Given the description of an element on the screen output the (x, y) to click on. 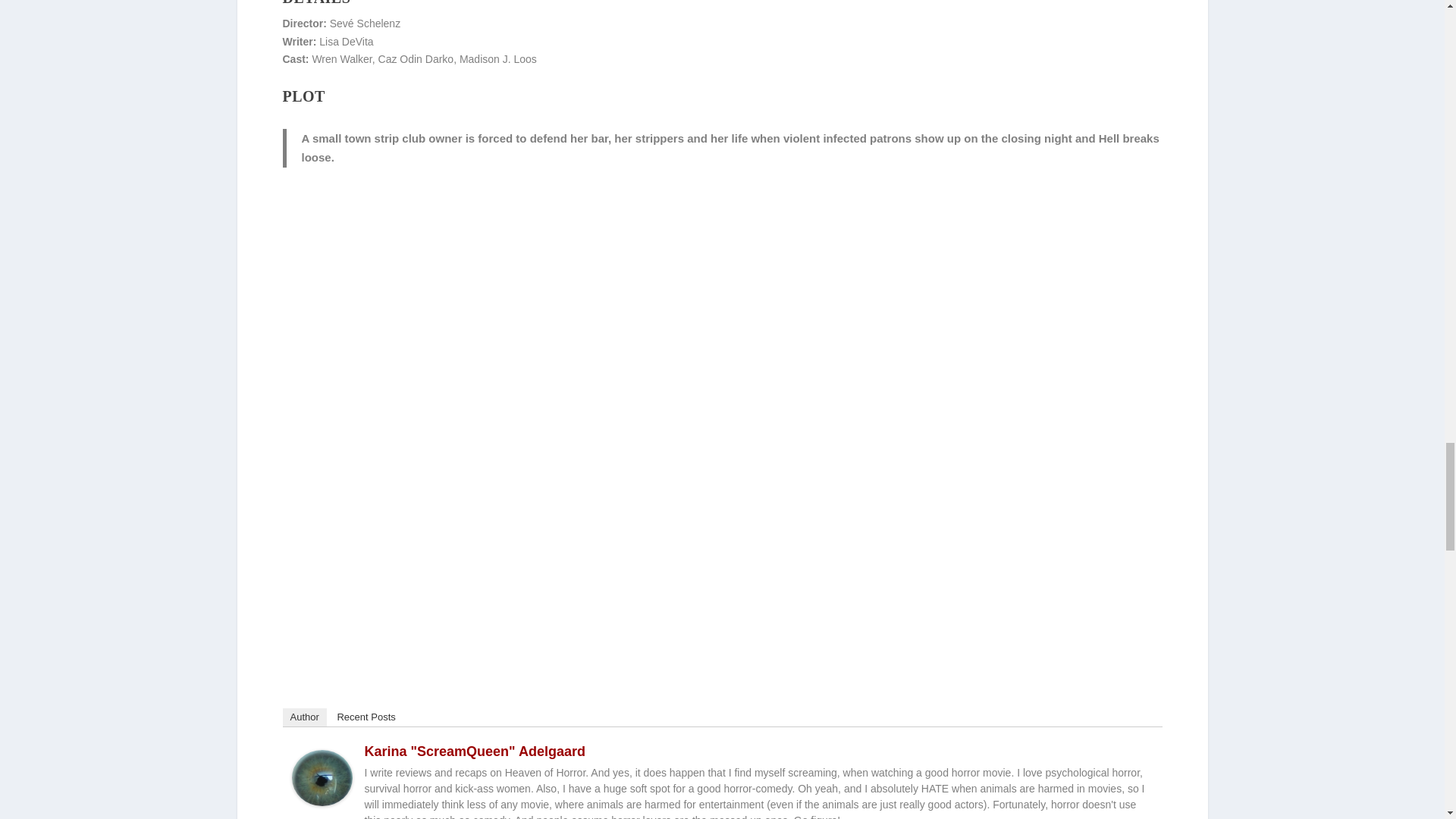
Author (304, 717)
Karina "ScreamQueen" Adelgaard (474, 751)
Recent Posts (366, 717)
Karina "ScreamQueen" Adelgaard (321, 802)
